Given the description of an element on the screen output the (x, y) to click on. 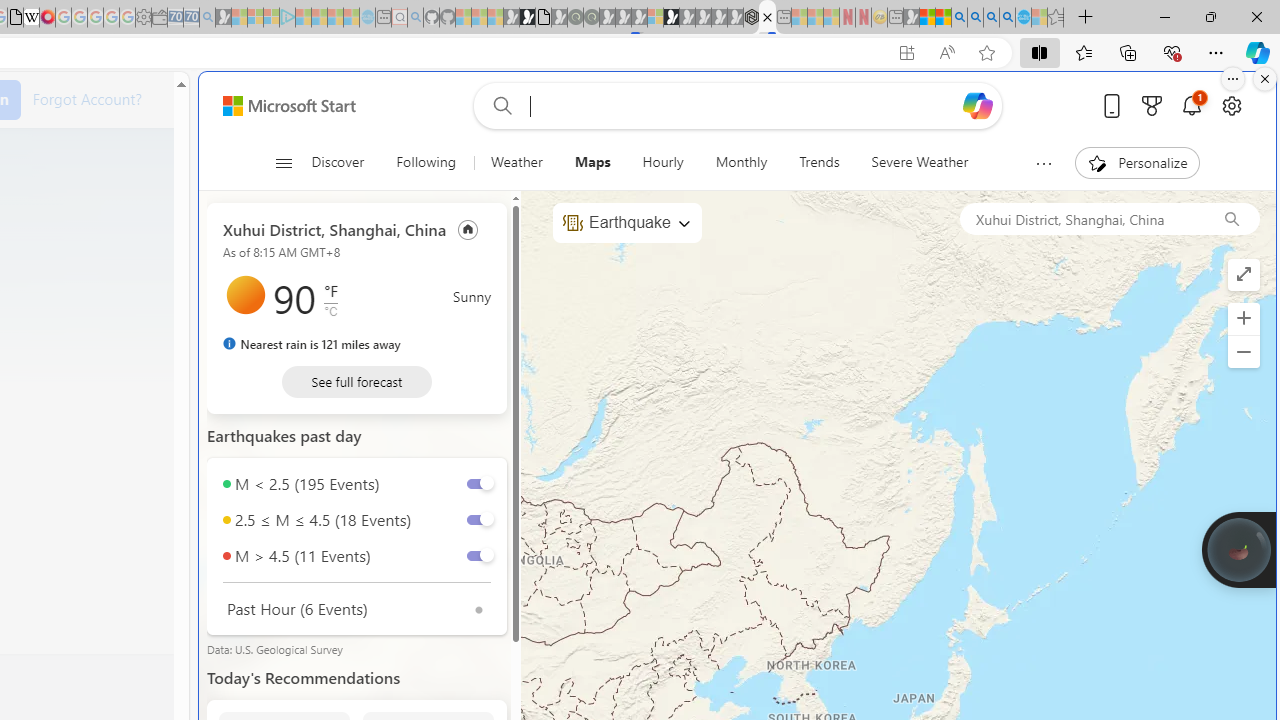
2009 Bing officially replaced Live Search on June 3 - Search (975, 17)
Wallet - Sleeping (159, 17)
Home | Sky Blue Bikes - Sky Blue Bikes - Sleeping (367, 17)
Microsoft Start (288, 105)
Show more topics (1044, 163)
Services - Maintenance | Sky Blue Bikes - Sky Blue Bikes (1023, 17)
Add this page to favorites (Ctrl+D) (986, 53)
MediaWiki (47, 17)
Open Copilot (977, 105)
Zoom in (1243, 318)
Minimize (1164, 16)
